Given the description of an element on the screen output the (x, y) to click on. 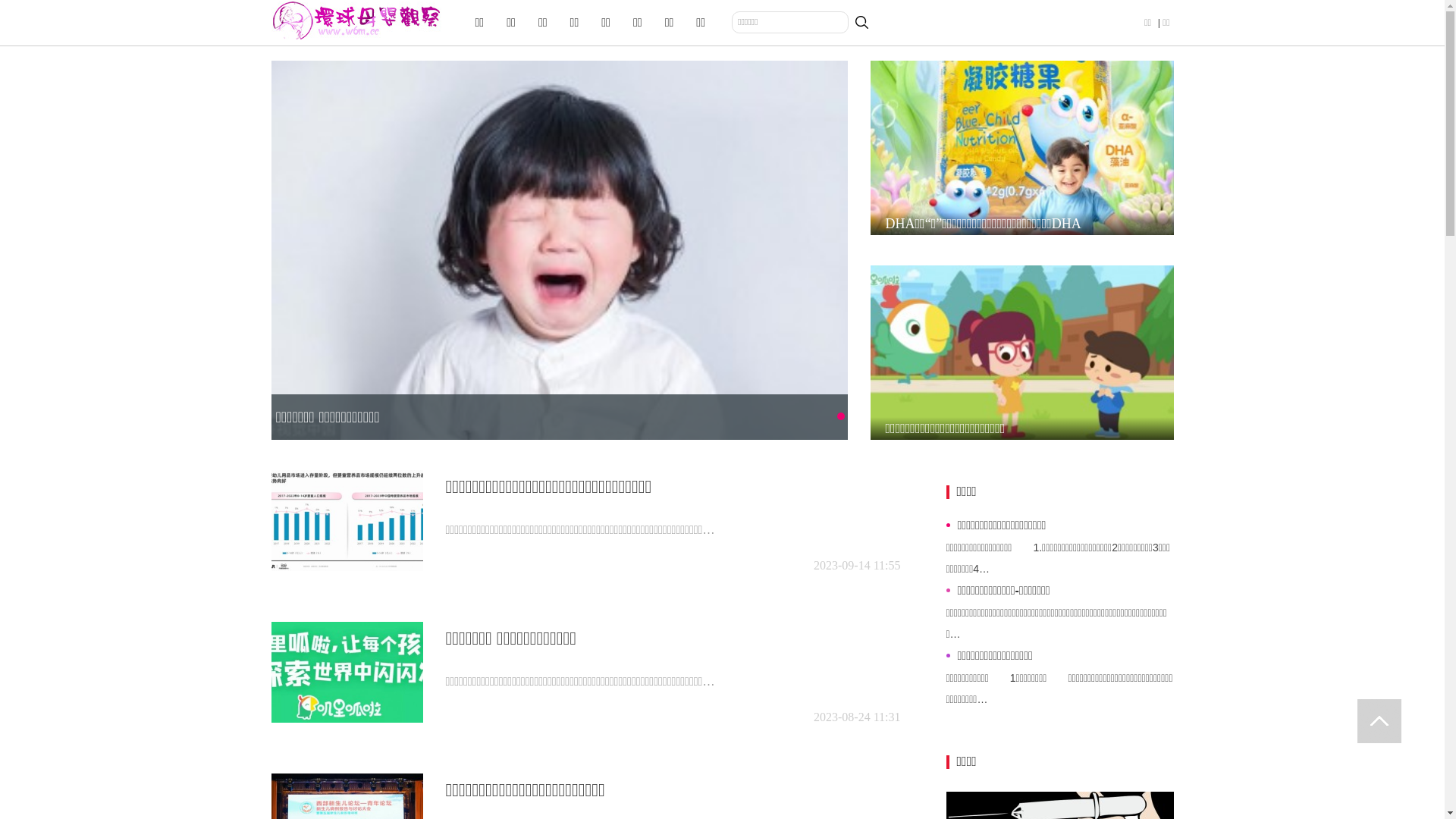
2023-08-24 11:31 Element type: text (856, 716)
  Element type: text (1379, 721)
2023-09-14 11:55 Element type: text (856, 564)
